Given the description of an element on the screen output the (x, y) to click on. 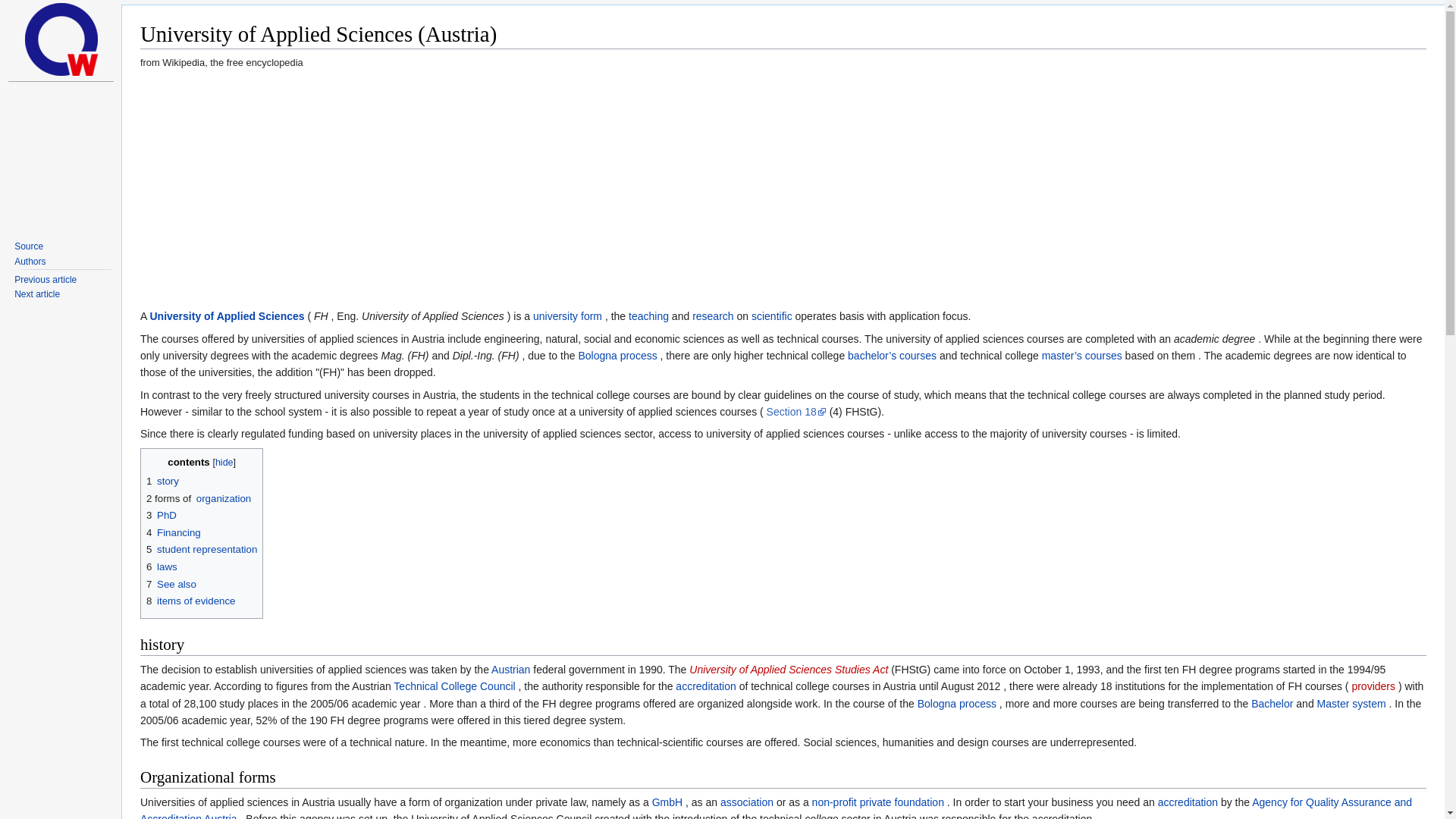
Bologna process (617, 355)
Bachelor (1271, 703)
University (567, 316)
7 See also (171, 583)
Master system (1351, 703)
Next article (36, 294)
university form (567, 316)
Bologna process (956, 703)
teaching (648, 316)
providers (1372, 686)
University of Applied Sciences (226, 316)
8 items of evidence (191, 600)
GmbH (667, 802)
Barbara Zeizinger (45, 279)
